Given the description of an element on the screen output the (x, y) to click on. 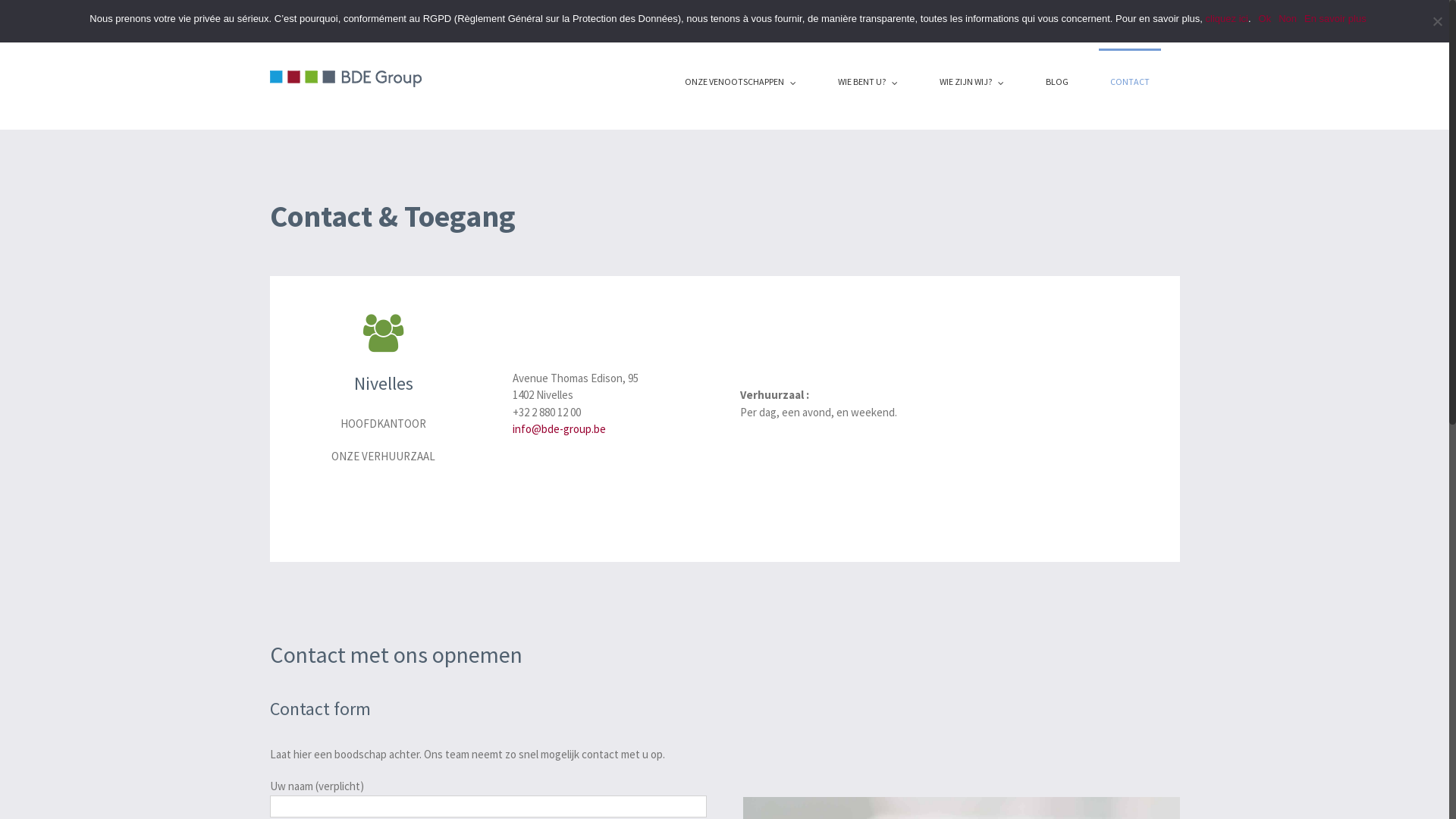
Bisoft IT SERVICES Element type: text (961, 15)
nl Element type: text (1153, 15)
info@bde-group.be Element type: text (558, 428)
Ecologic IT Equipement Element type: text (1071, 15)
cliquez ici Element type: text (1226, 18)
Ons Element type: text (896, 15)
ONZE VENOOTSCHAPPEN Element type: text (740, 80)
WIE ZIJN WIJ? Element type: text (971, 80)
fr Element type: text (1138, 15)
CONTACT Element type: text (1129, 80)
Jullie Element type: text (861, 15)
BLOG Element type: text (1056, 80)
WIE BENT U? Element type: text (867, 80)
Ok Element type: text (1264, 18)
en Element type: text (1170, 15)
Non Element type: text (1287, 18)
En savoir plus Element type: text (1335, 18)
